Given the description of an element on the screen output the (x, y) to click on. 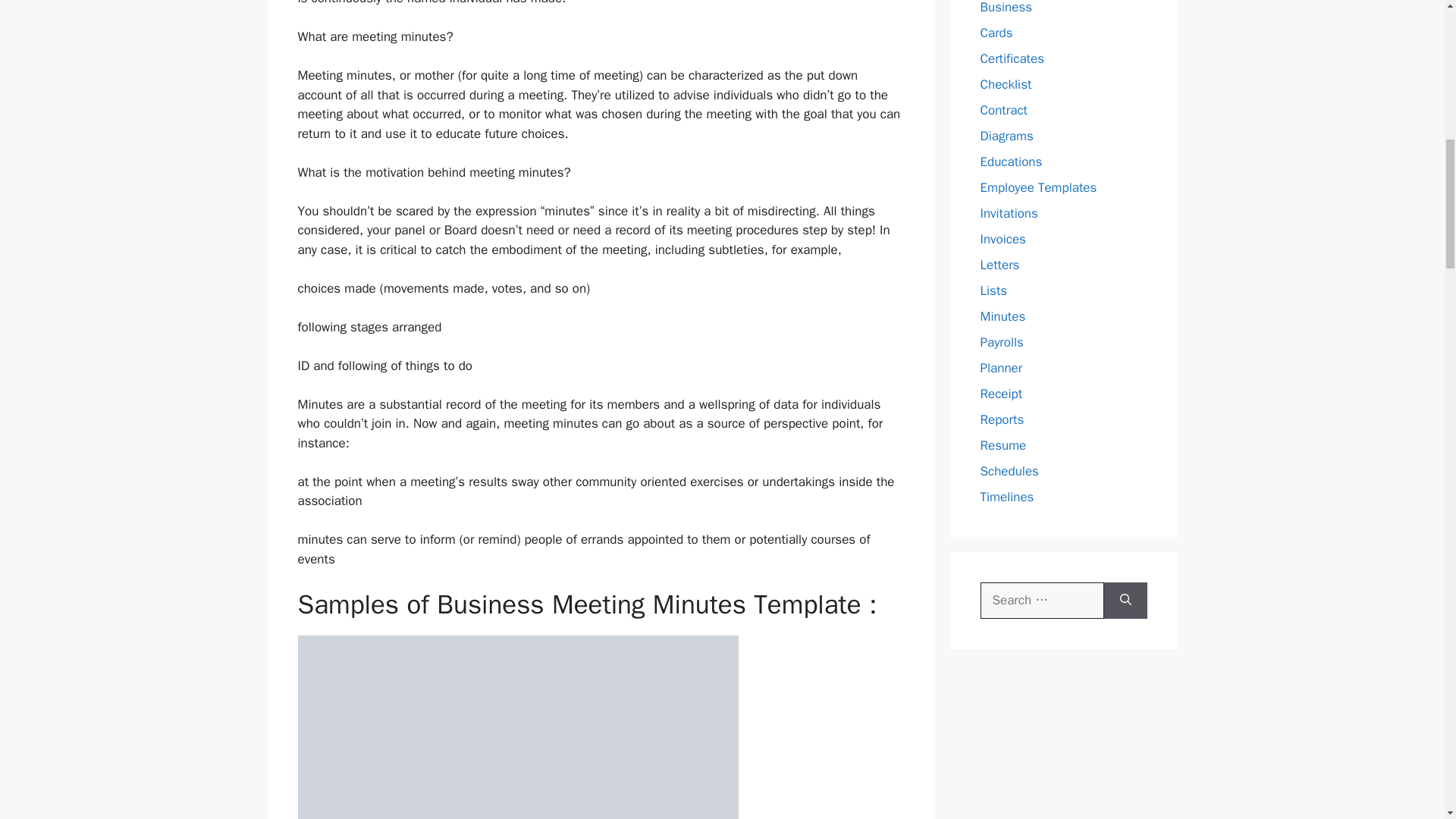
Search for: (1041, 600)
Scroll back to top (1406, 720)
Cards (995, 32)
Business (1005, 7)
Certificates (1011, 57)
